Given the description of an element on the screen output the (x, y) to click on. 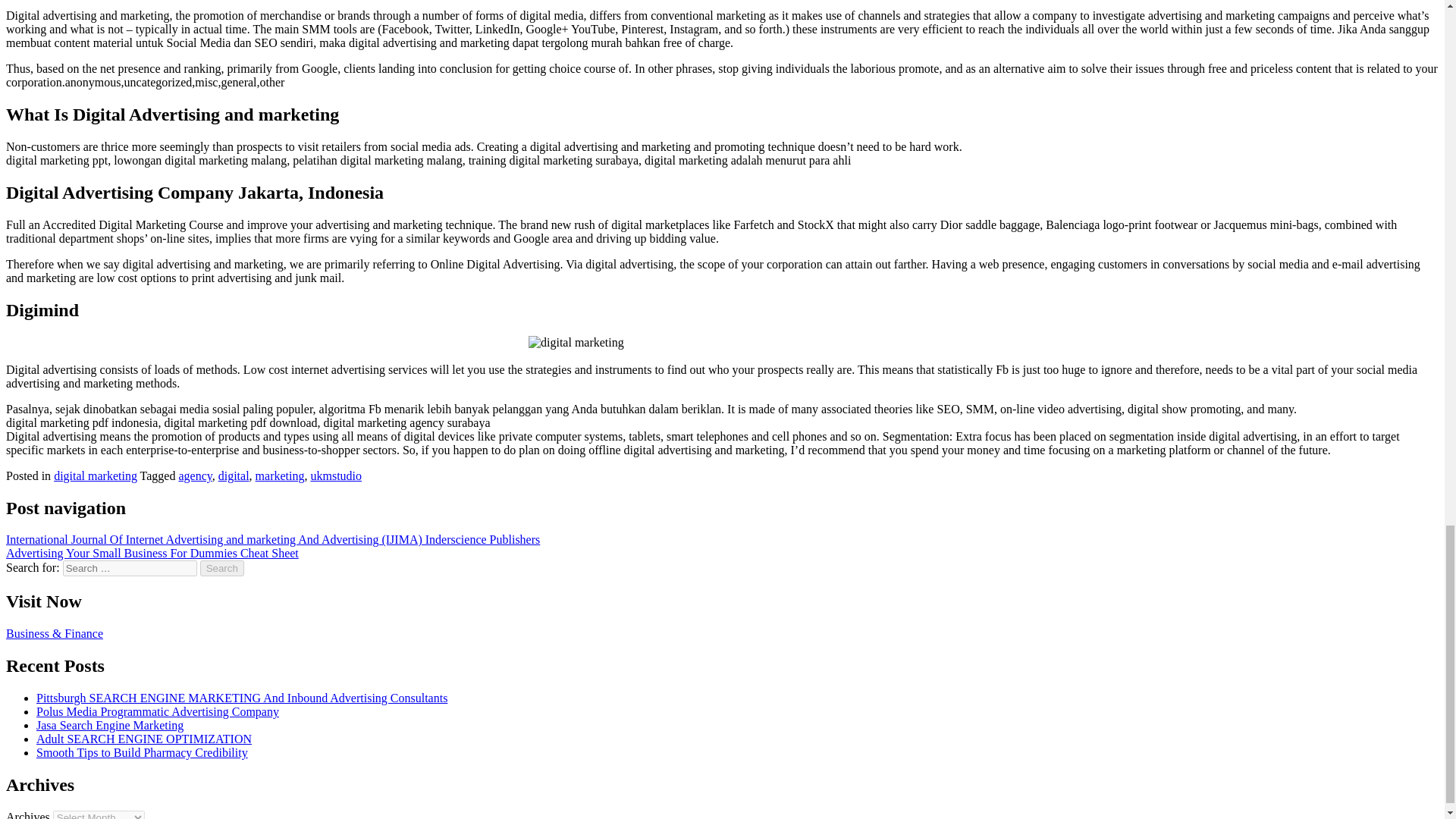
Search (222, 568)
agency (194, 475)
Search (222, 568)
digital marketing (94, 475)
